Given the description of an element on the screen output the (x, y) to click on. 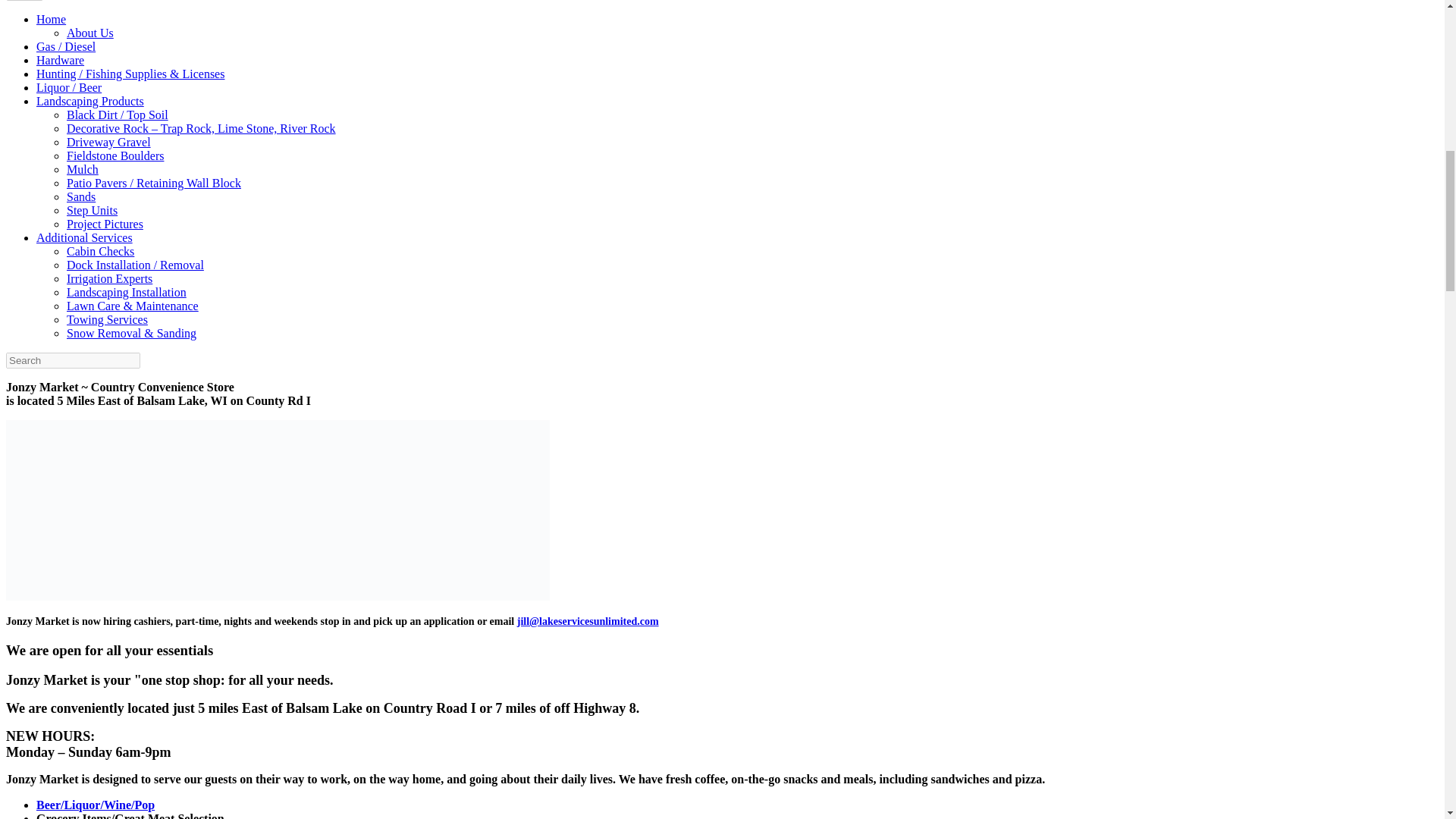
Hardware (60, 60)
Liquor Store Balsam Lake WI (95, 804)
About Us (89, 32)
Home (50, 19)
